Given the description of an element on the screen output the (x, y) to click on. 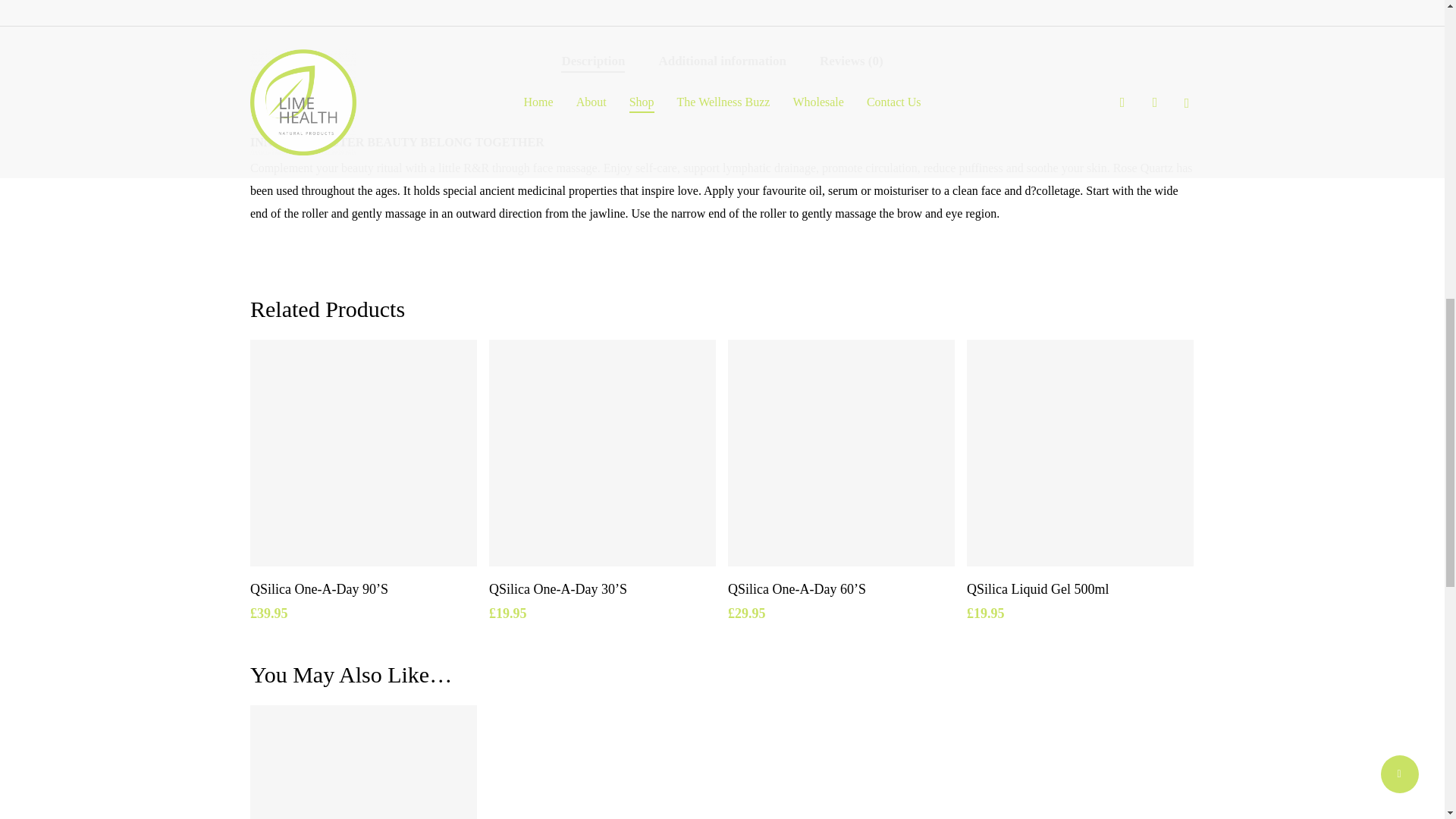
Description (592, 61)
Additional information (722, 61)
